Given the description of an element on the screen output the (x, y) to click on. 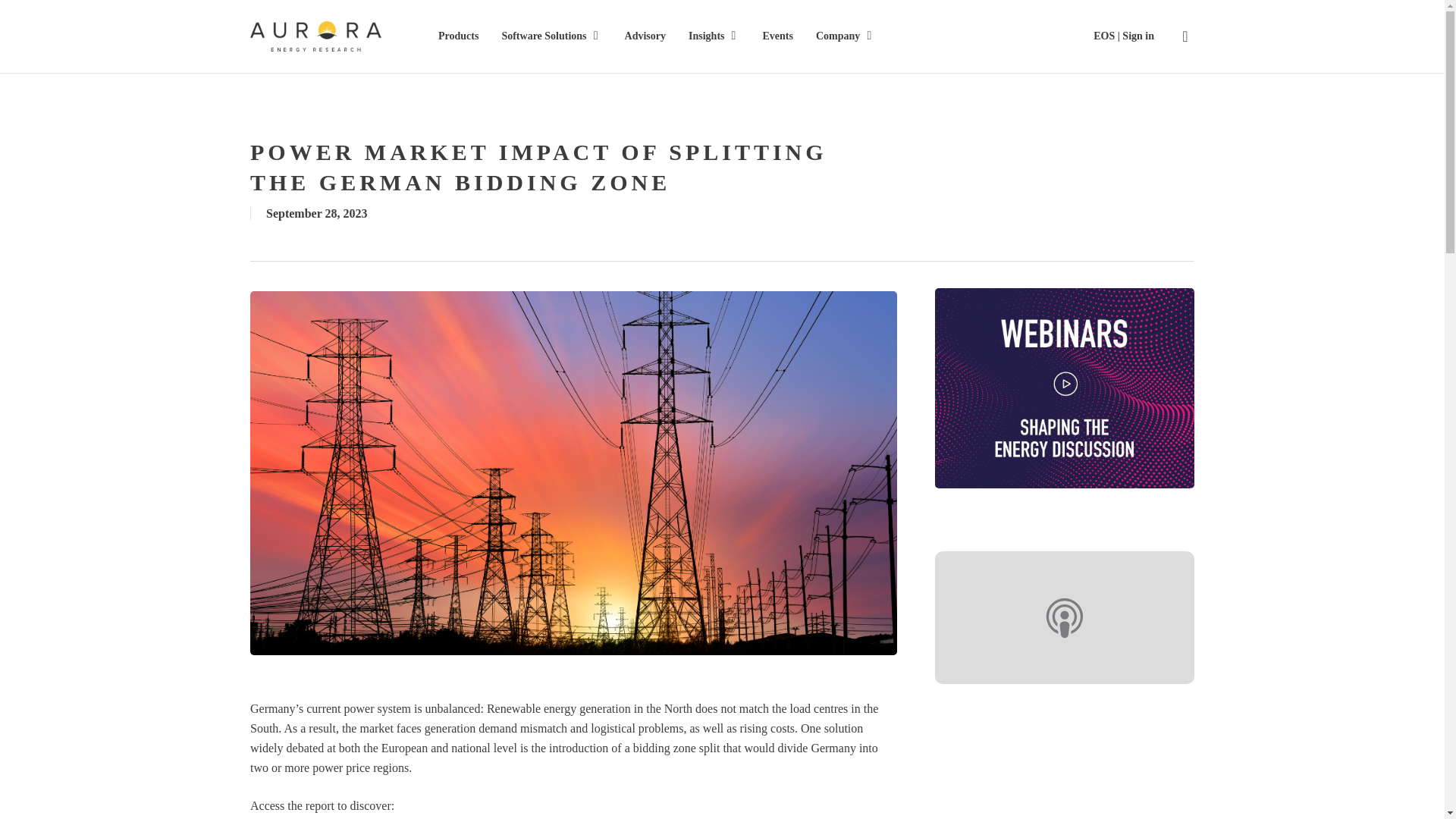
Events (777, 36)
Company (845, 36)
Products (458, 36)
Insights (713, 36)
search (1184, 36)
Software Solutions (550, 36)
Advisory (644, 36)
